Given the description of an element on the screen output the (x, y) to click on. 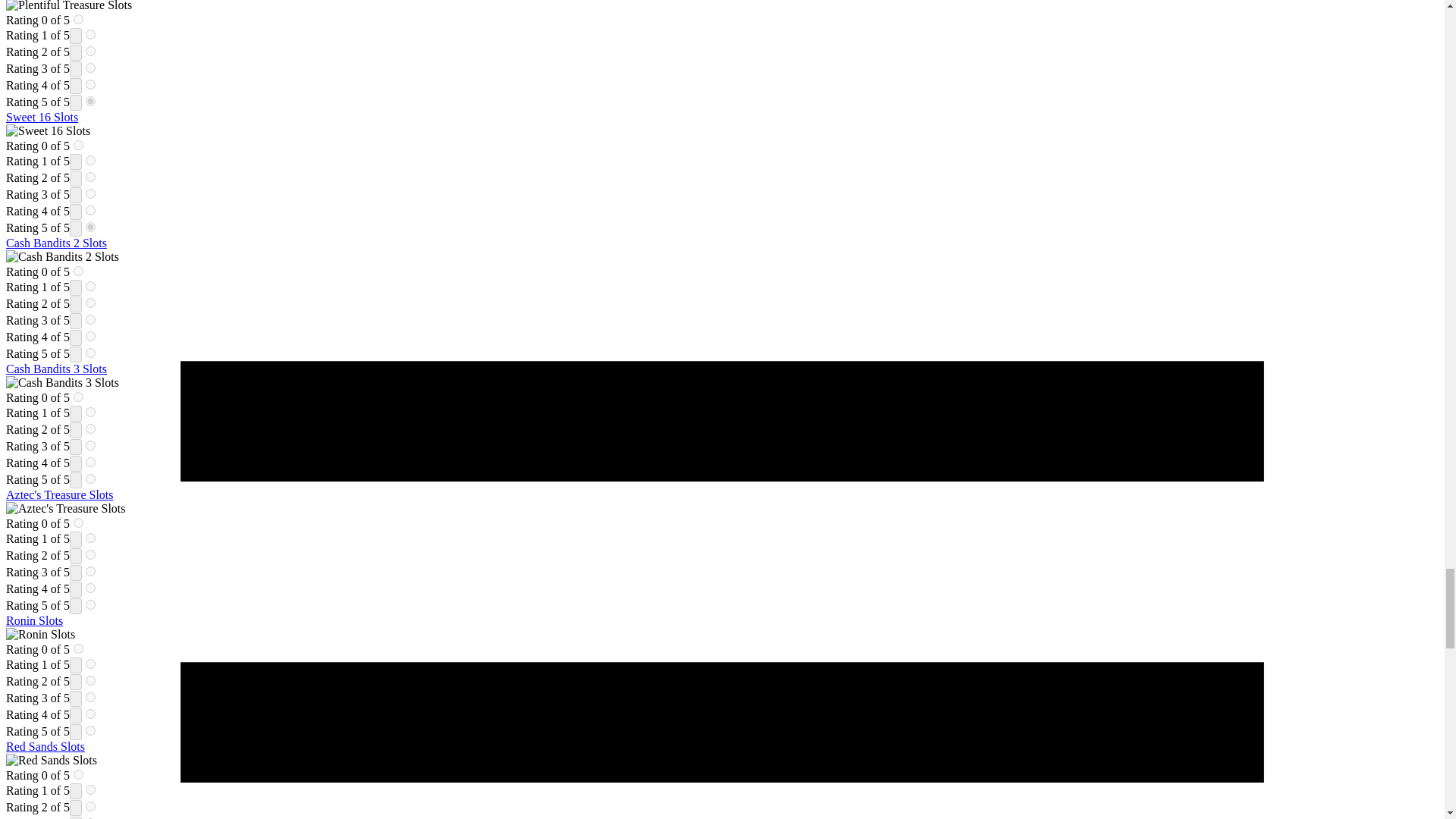
0 (78, 144)
3 (90, 194)
0 (78, 397)
5 (90, 226)
3 (90, 67)
0 (78, 271)
1 (90, 34)
4 (90, 210)
0 (78, 19)
4 (90, 336)
2 (90, 176)
1 (90, 411)
3 (90, 319)
5 (90, 101)
Sweet 16 Slots (41, 116)
